Given the description of an element on the screen output the (x, y) to click on. 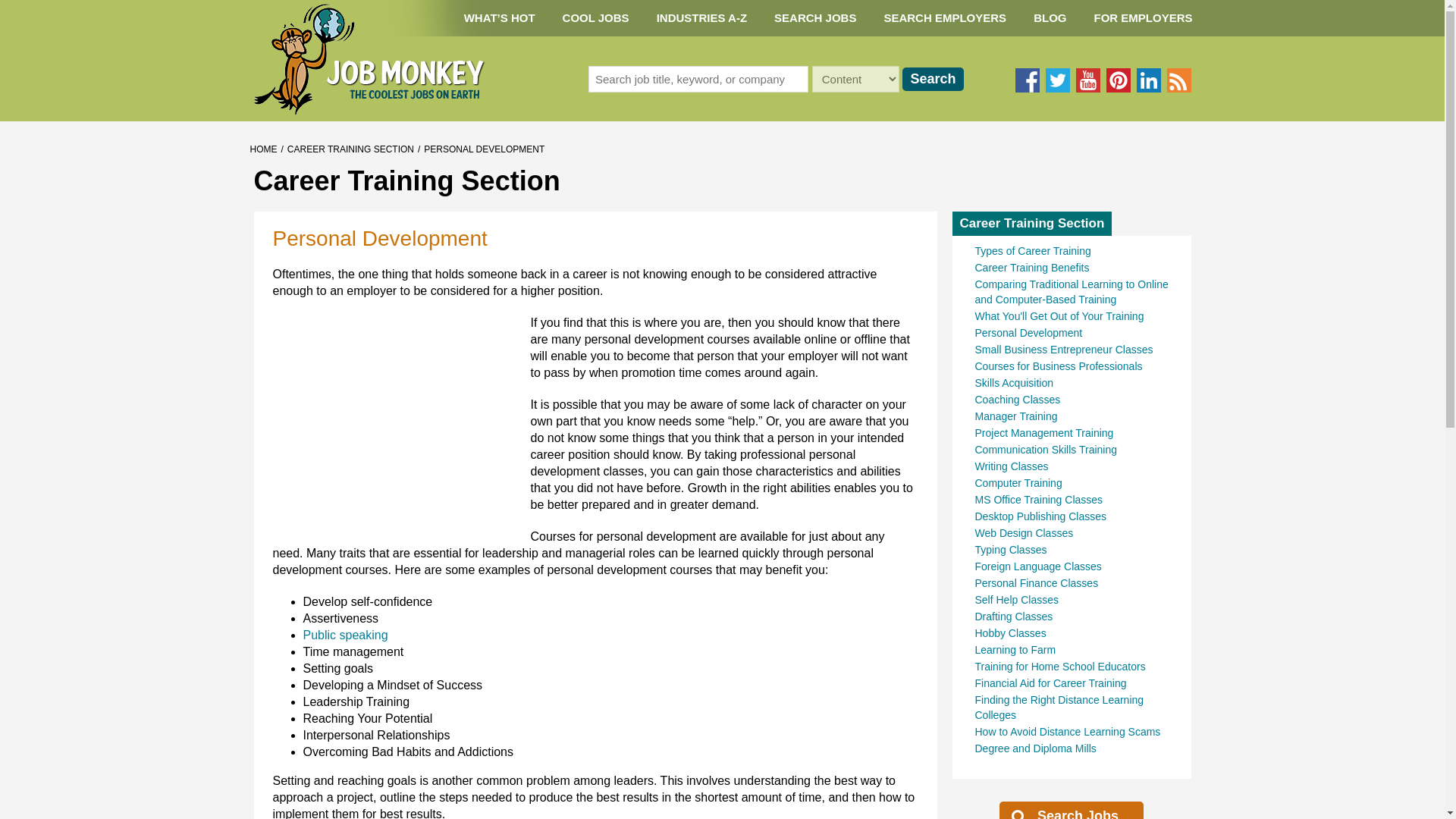
INDUSTRIES A-Z (701, 18)
Follow us on Facebook (1026, 79)
Connect with us on LinkedIn (1147, 79)
Advertisement (386, 409)
Search (932, 78)
SEARCH EMPLOYERS (944, 18)
Subscribe to our blog (1178, 79)
COOL JOBS (595, 18)
Follow us on Twitter (1056, 79)
SEARCH JOBS (814, 18)
Follow us on Twitter (1056, 79)
Search (932, 78)
FOR EMPLOYERS (1142, 18)
Follow us on Facebook (1026, 79)
Subscribe to our blog (1178, 79)
